Given the description of an element on the screen output the (x, y) to click on. 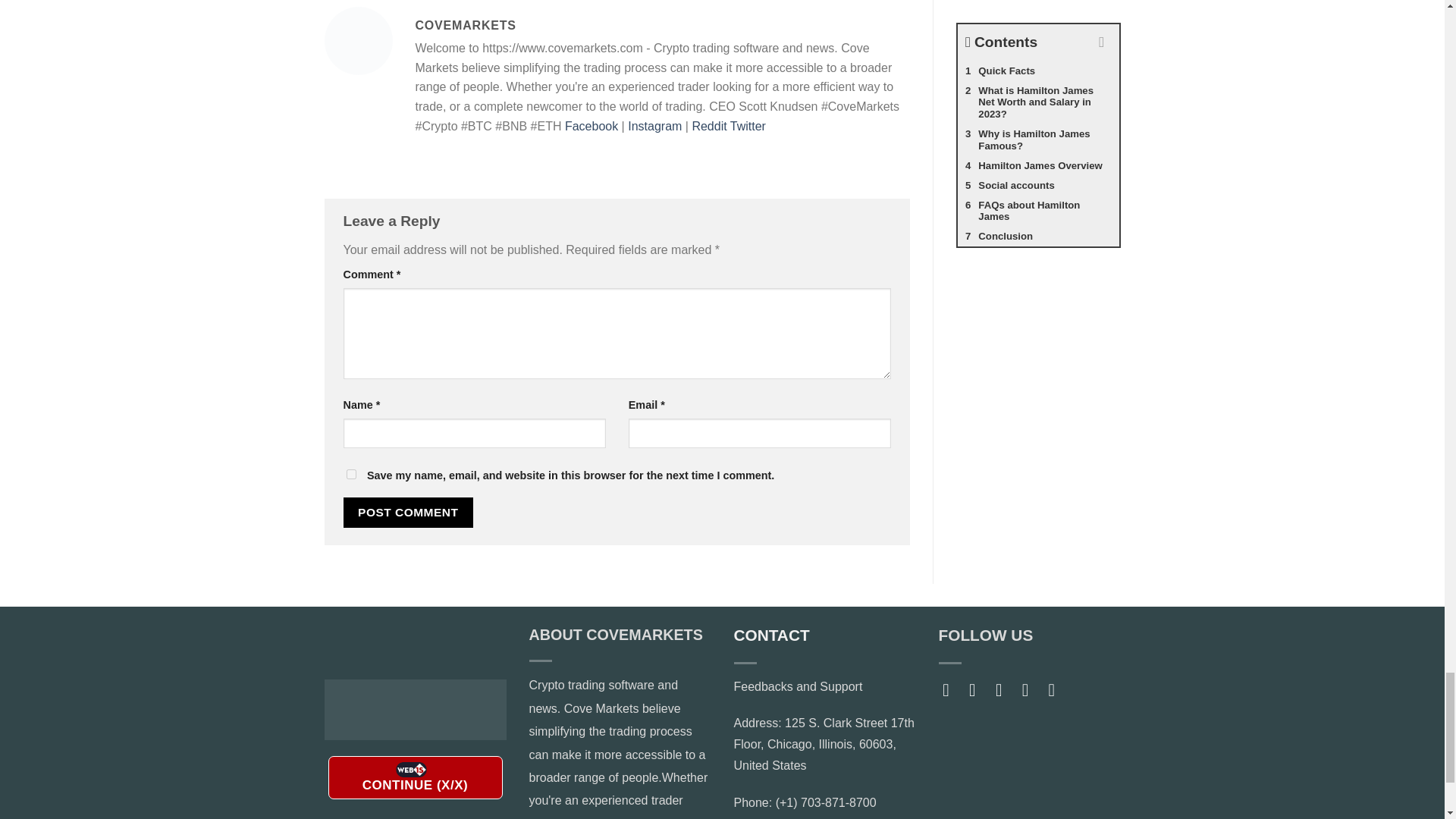
yes (350, 474)
Post Comment (407, 512)
Instagram (654, 125)
Twitter (747, 125)
Post Comment (407, 512)
Facebook (590, 125)
Reddit (708, 125)
